Given the description of an element on the screen output the (x, y) to click on. 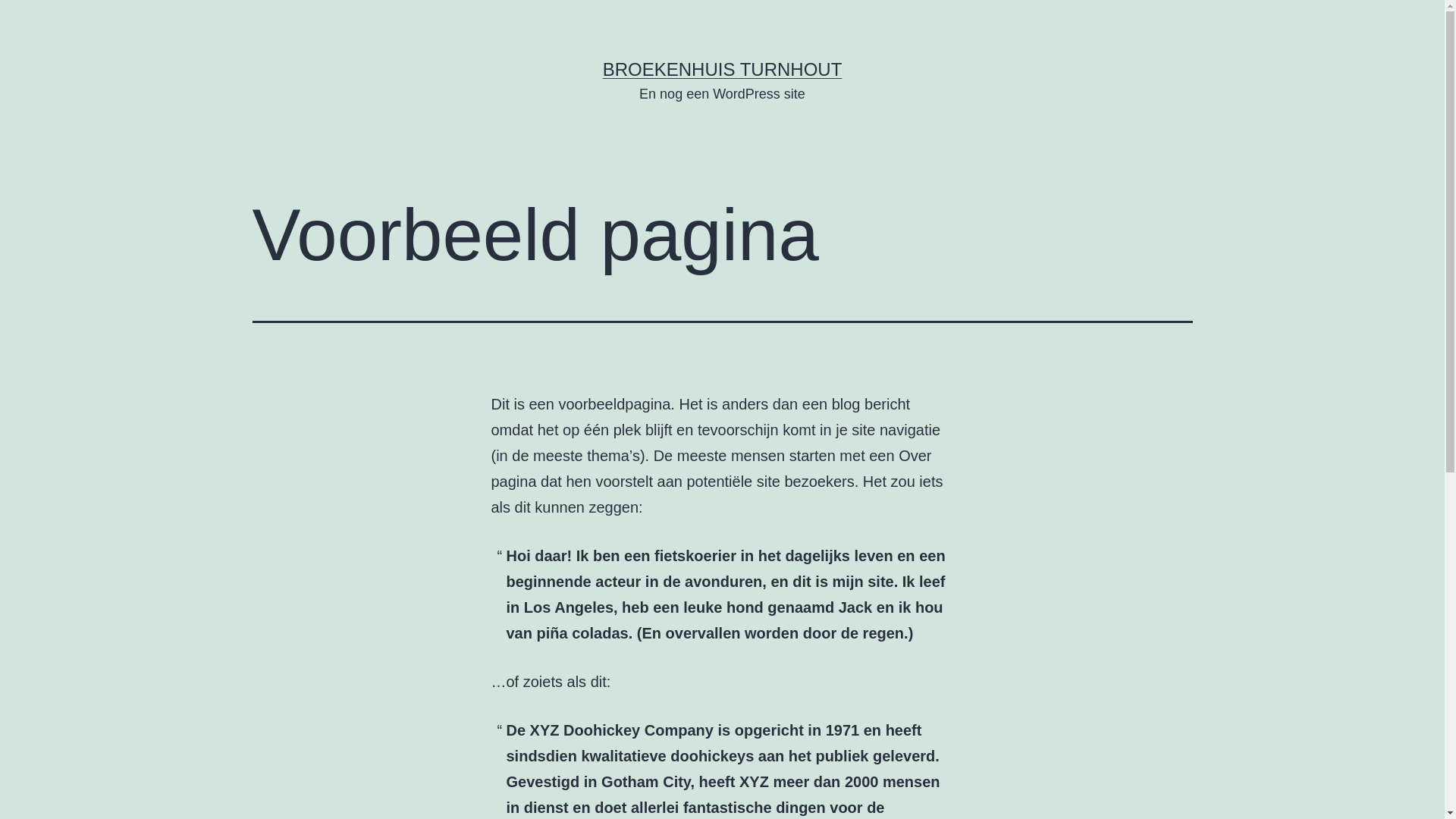
BROEKENHUIS TURNHOUT Element type: text (722, 69)
